Given the description of an element on the screen output the (x, y) to click on. 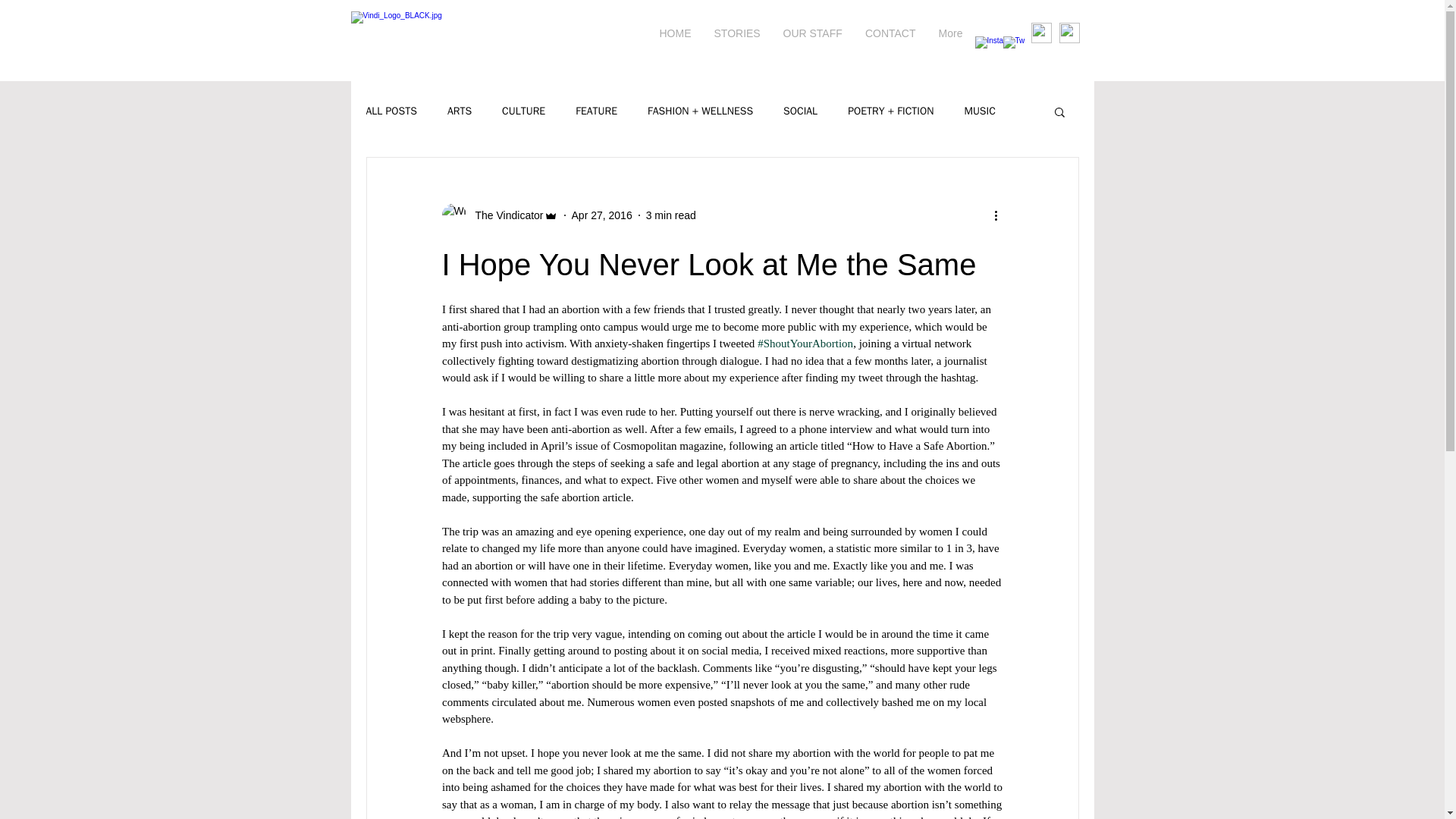
ARTS (458, 110)
Apr 27, 2016 (601, 215)
FEATURE (596, 110)
OUR STAFF (812, 33)
CULTURE (523, 110)
SOCIAL (799, 110)
HOME (674, 33)
MUSIC (978, 110)
ALL POSTS (390, 110)
STORIES (736, 33)
